Given the description of an element on the screen output the (x, y) to click on. 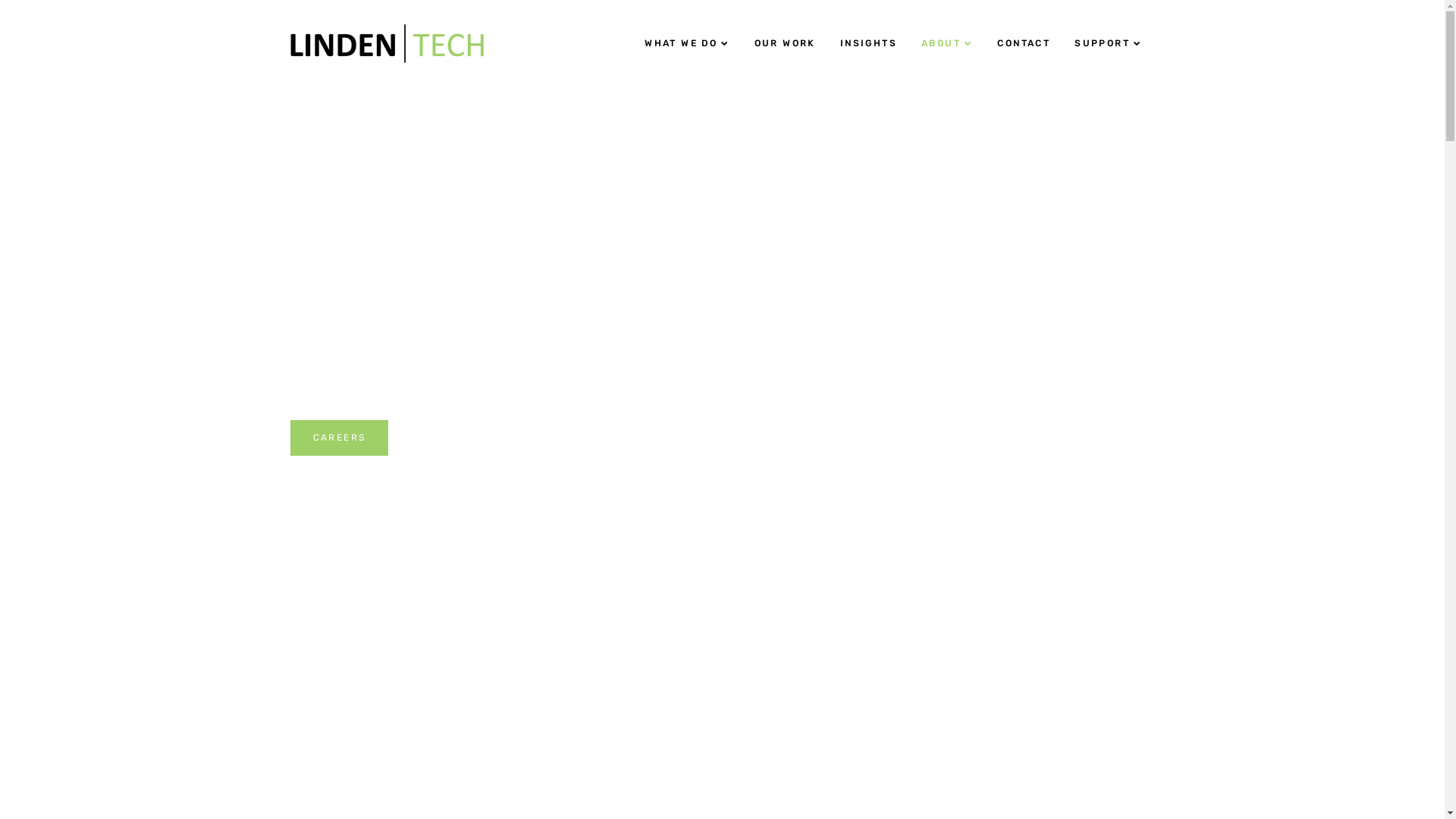
INSIGHTS Element type: text (868, 43)
OUR WORK Element type: text (785, 43)
Lindentech Element type: hover (386, 42)
CAREERS Element type: text (338, 437)
ABOUT Element type: text (947, 43)
SUPPORT Element type: text (1108, 43)
WHAT WE DO Element type: text (686, 43)
CONTACT Element type: text (1023, 43)
